Given the description of an element on the screen output the (x, y) to click on. 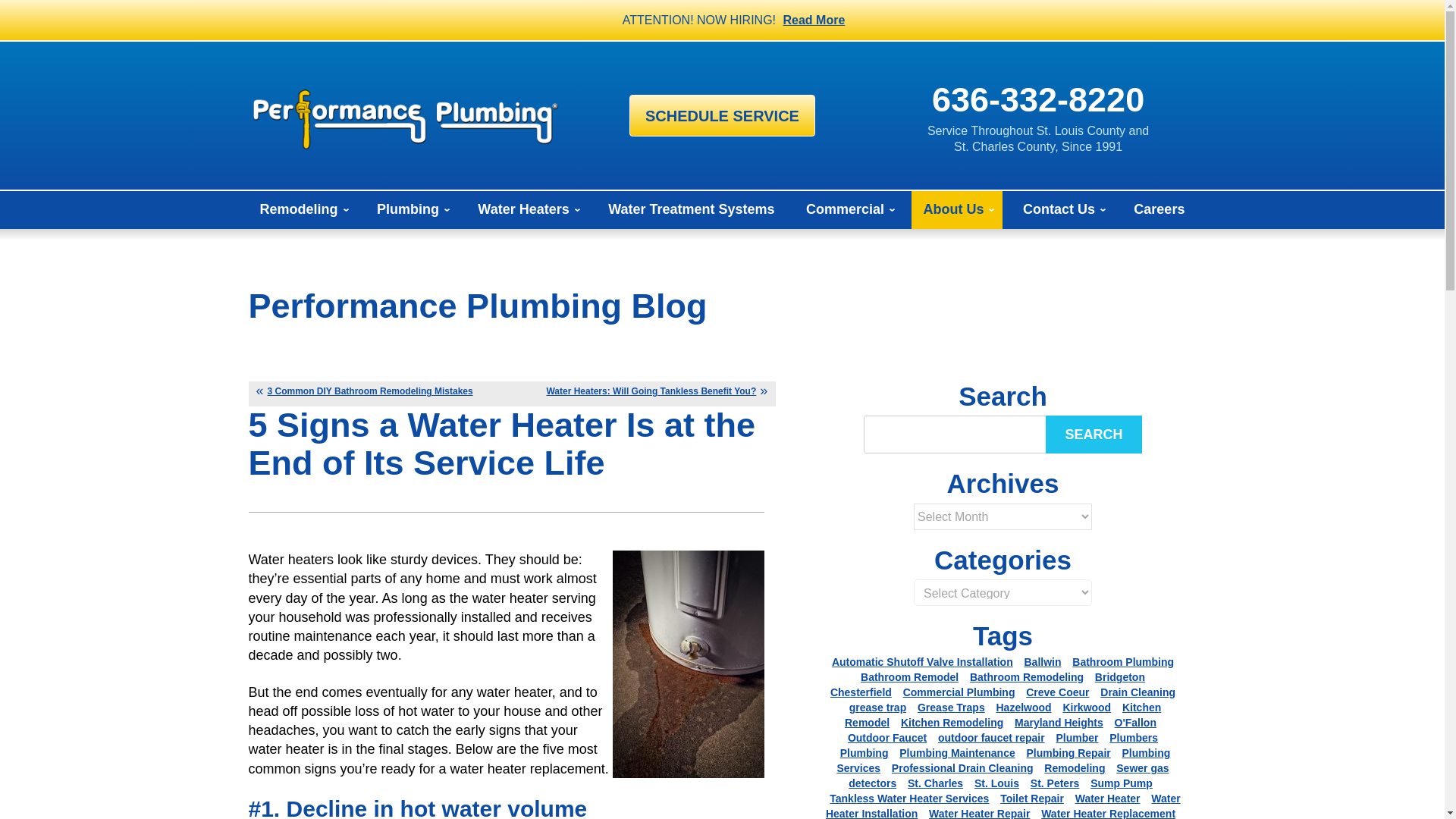
Remodeling (302, 209)
Read More (813, 19)
636-332-8220 (1037, 99)
Plumbing (411, 209)
SCHEDULE SERVICE (721, 115)
